Given the description of an element on the screen output the (x, y) to click on. 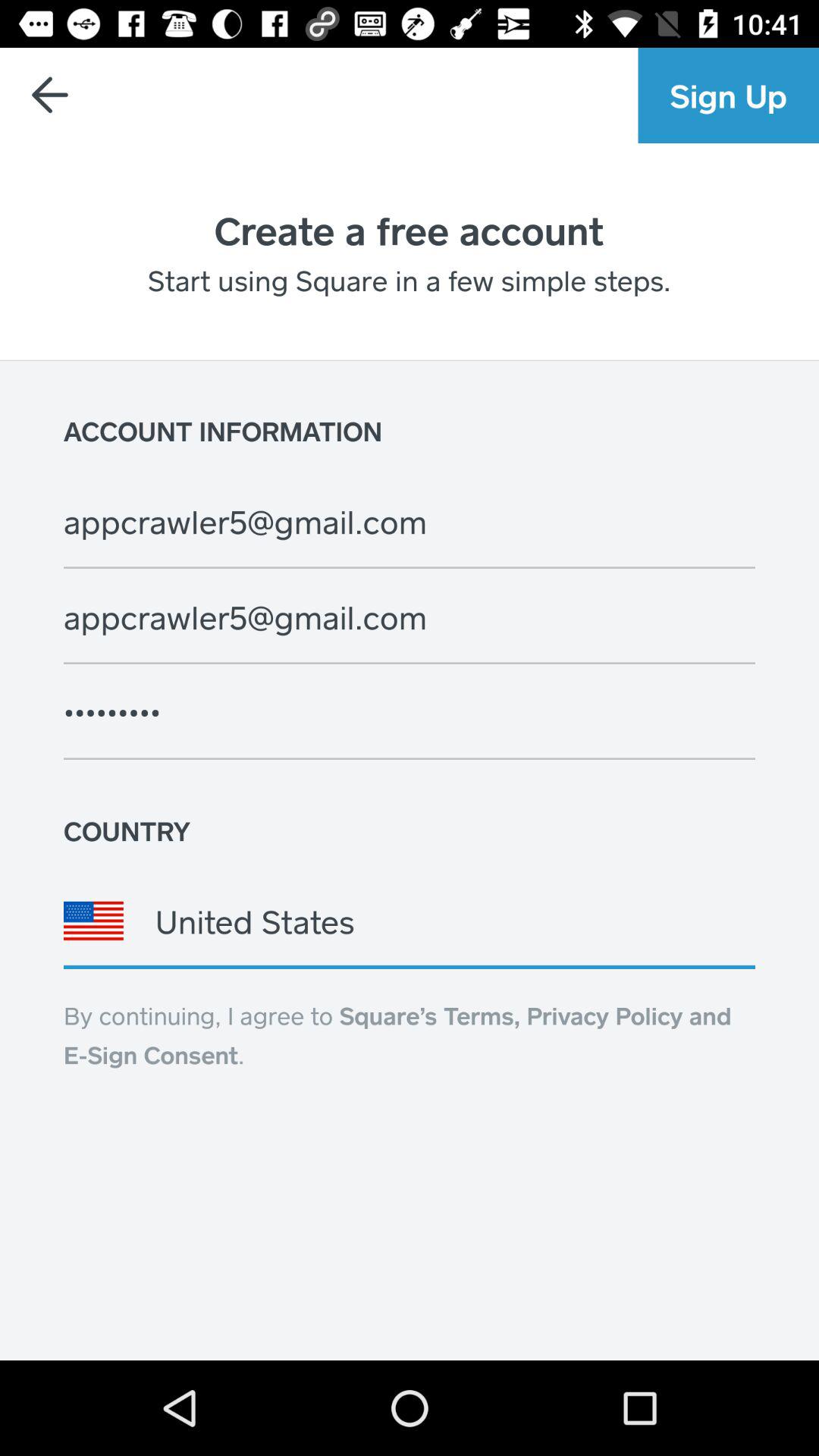
jump until sign up icon (728, 95)
